Given the description of an element on the screen output the (x, y) to click on. 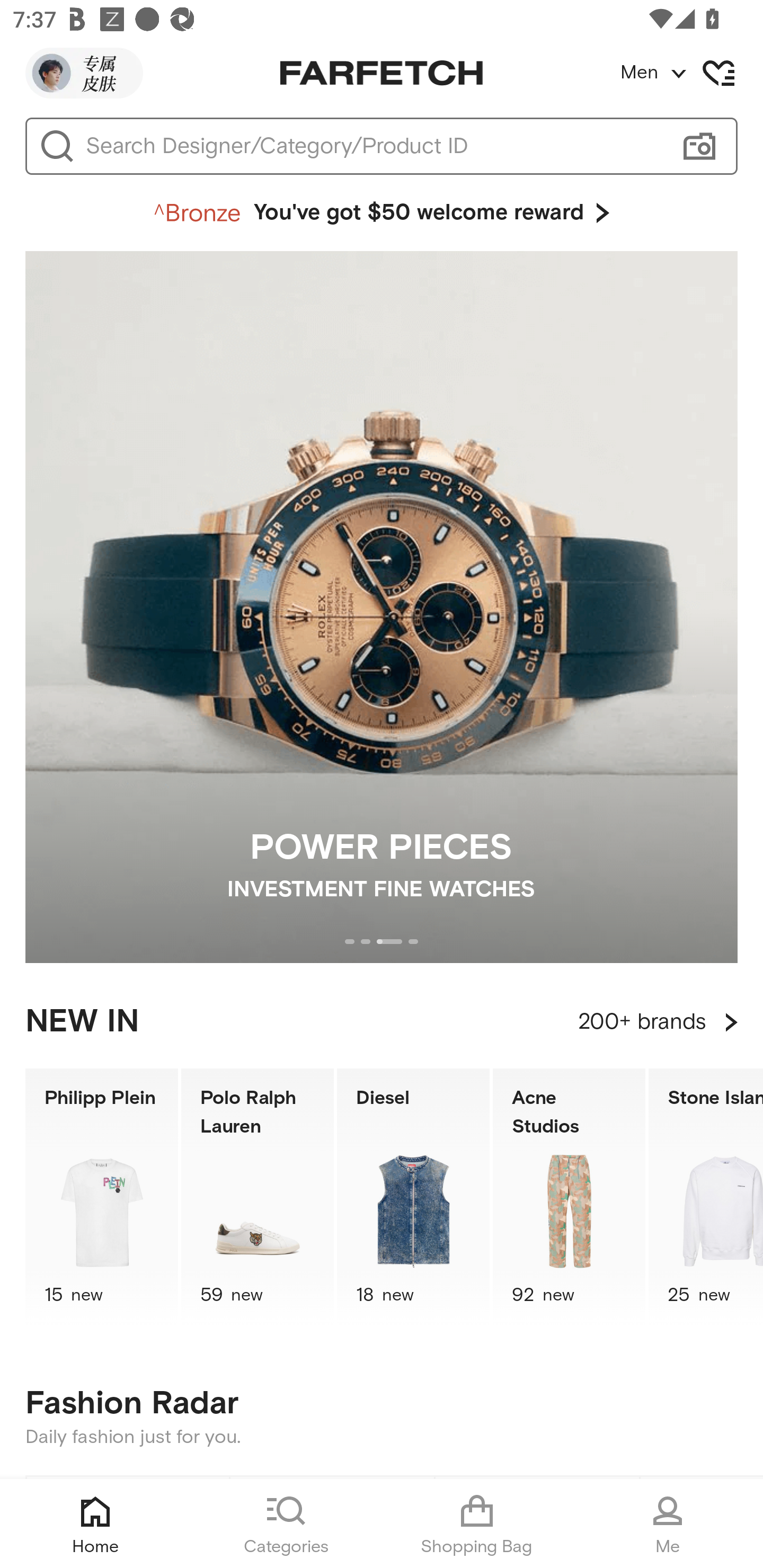
Men (691, 72)
Search Designer/Category/Product ID (373, 146)
You've got $50 welcome reward (381, 213)
NEW IN 200+ brands (381, 1021)
Philipp Plein 15  new (101, 1196)
Polo Ralph Lauren 59  new (257, 1196)
Diesel 18  new (413, 1196)
Acne Studios 92  new (568, 1196)
Stone Island 25  new (705, 1196)
Categories (285, 1523)
Shopping Bag (476, 1523)
Me (667, 1523)
